Given the description of an element on the screen output the (x, y) to click on. 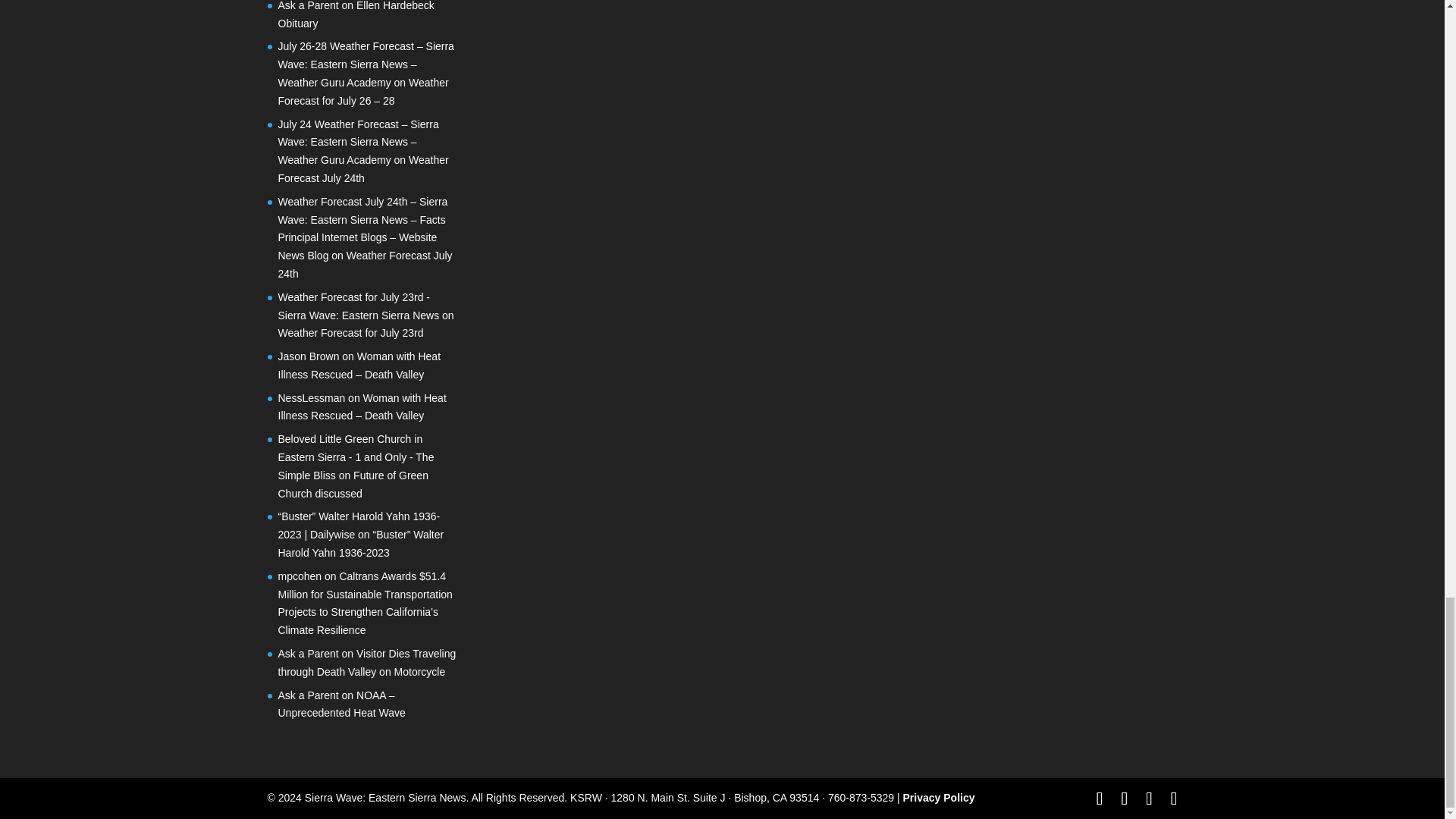
Ellen Hardebeck Obituary (355, 14)
